Given the description of an element on the screen output the (x, y) to click on. 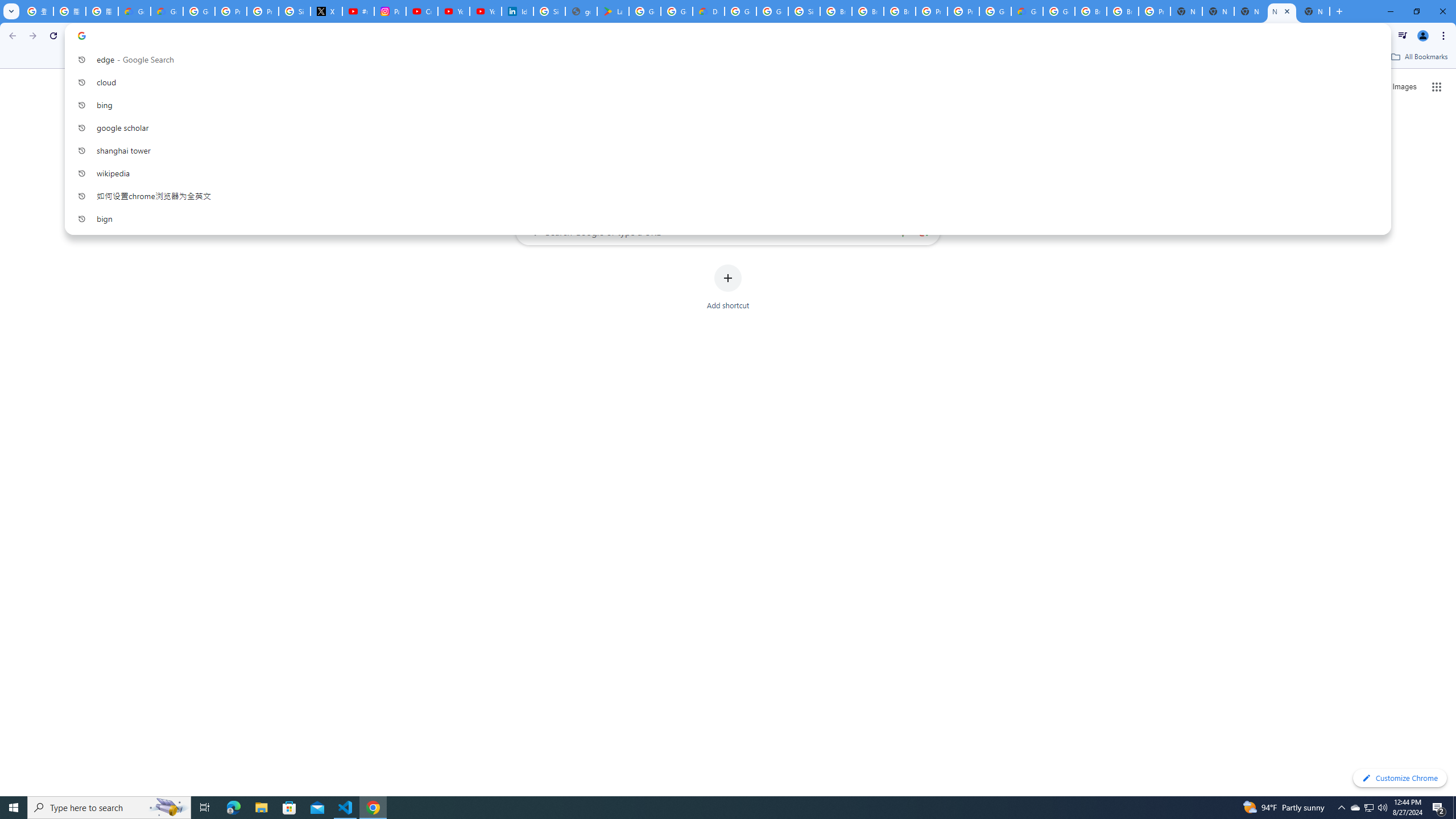
Browse Chrome as a guest - Computer - Google Chrome Help (868, 11)
YouTube Culture & Trends - YouTube Top 10, 2021 (485, 11)
edge search from history (723, 59)
#nbabasketballhighlights - YouTube (358, 11)
Google Cloud Platform (740, 11)
